Given the description of an element on the screen output the (x, y) to click on. 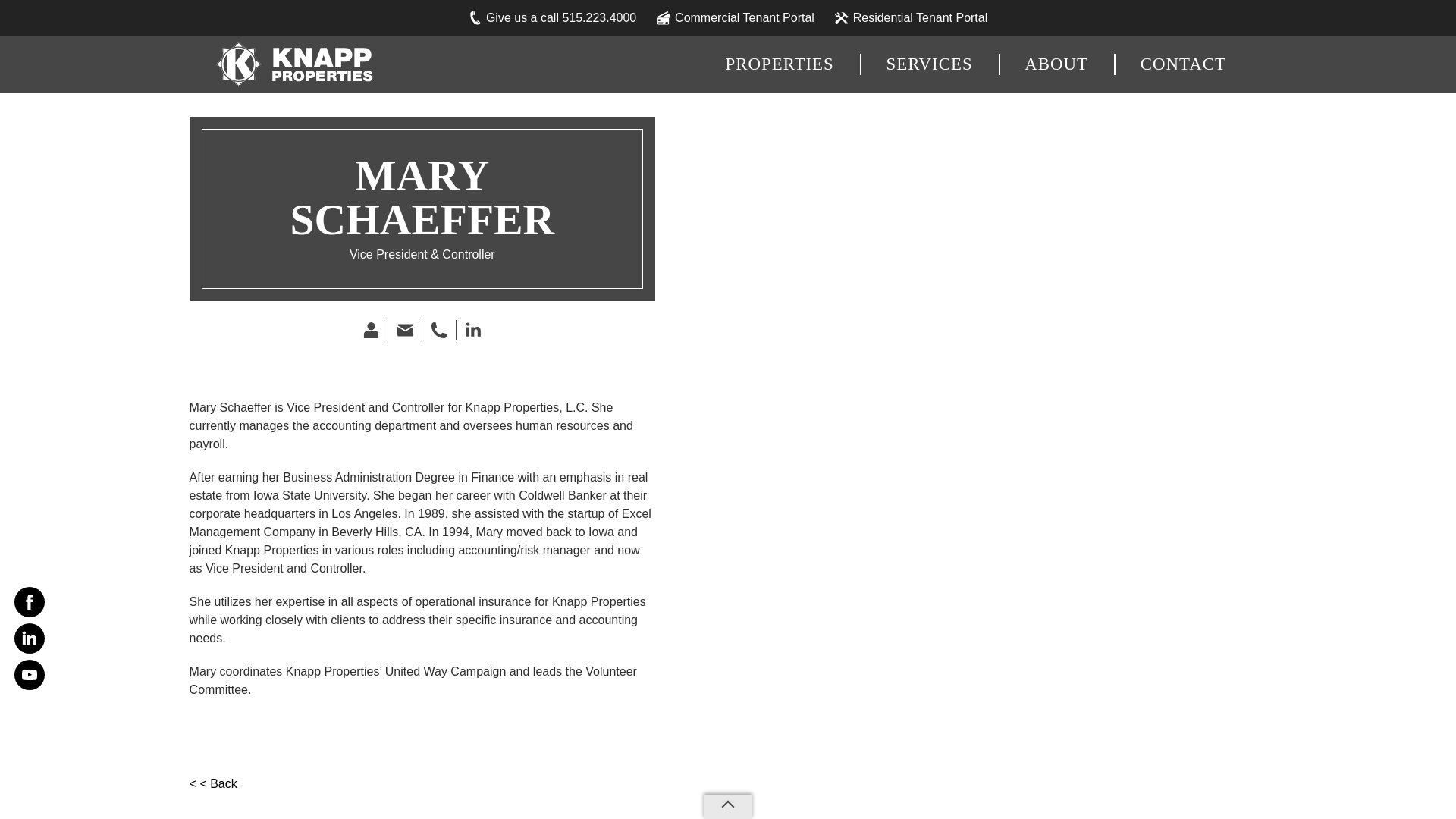
Commercial Tenant Portal (735, 18)
Give us a call 515.223.4000 (552, 18)
Knapp Properties. Link to homepage (290, 63)
Residential Tenant Portal (911, 18)
